Given the description of an element on the screen output the (x, y) to click on. 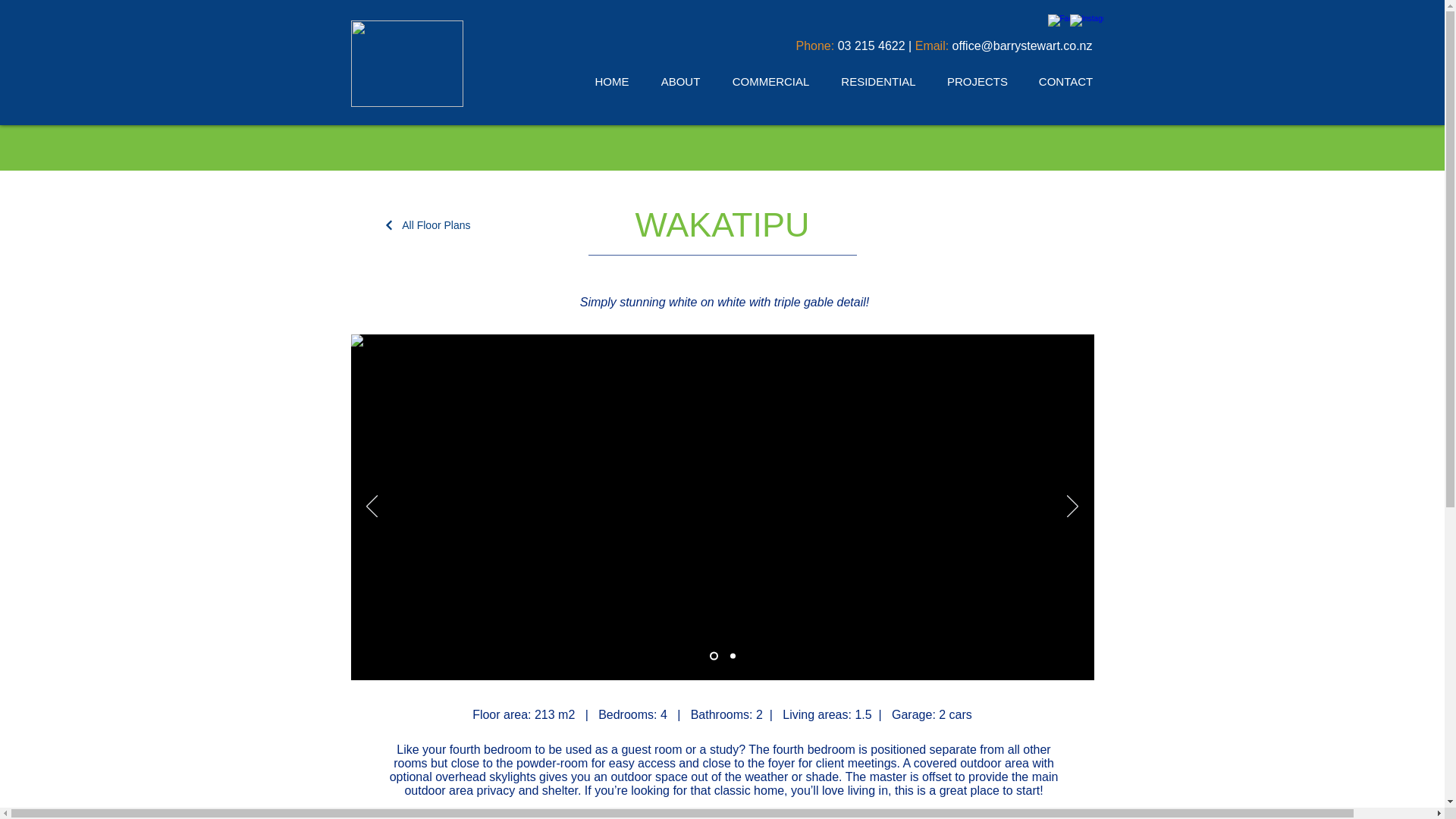
03 215 4622 (871, 45)
COMMERCIAL (770, 81)
All Floor Plans (420, 224)
PROJECTS (977, 81)
ABOUT (680, 81)
RESIDENTIAL (878, 81)
CONTACT (1065, 81)
HOME (612, 81)
